Given the description of an element on the screen output the (x, y) to click on. 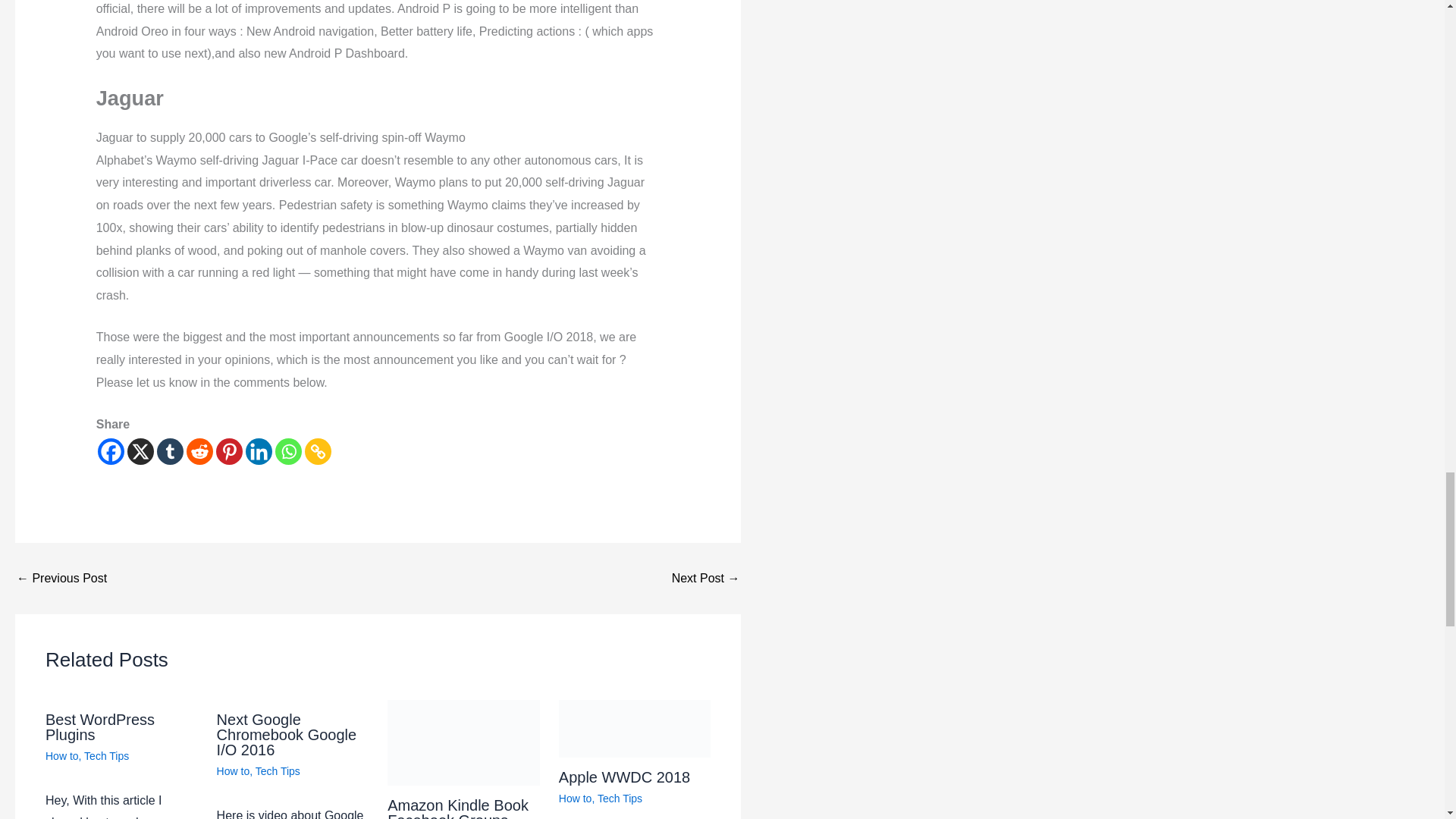
Facebook (110, 451)
Reddit (199, 451)
Copy Link (317, 451)
How to (575, 798)
Best WordPress Plugins (99, 726)
Tech Tips (619, 798)
Tech Tips (277, 770)
Amazon Kindle Book Facebook Groups (457, 807)
X (141, 451)
How to (233, 770)
